Given the description of an element on the screen output the (x, y) to click on. 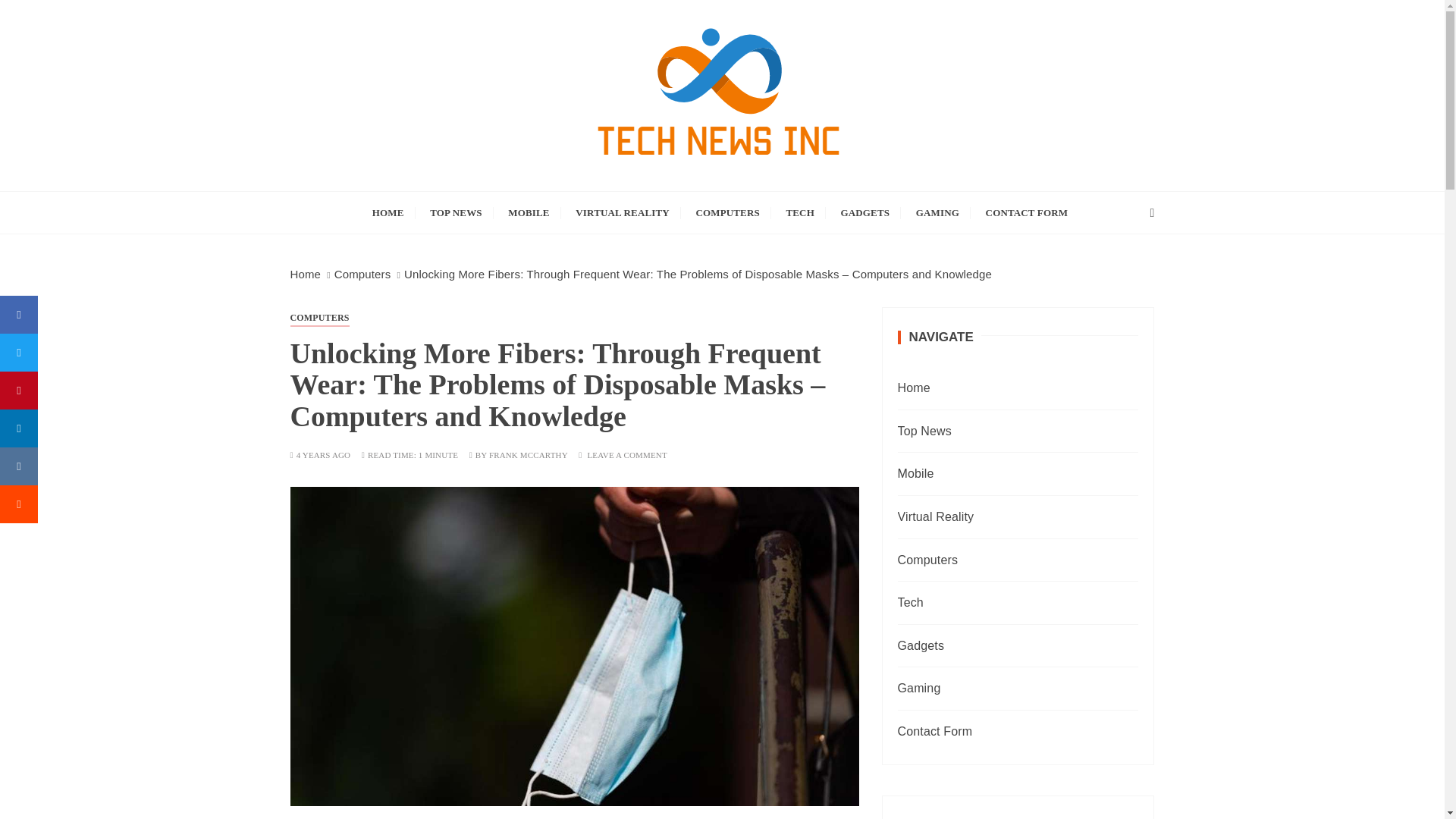
CONTACT FORM (1027, 212)
MOBILE (528, 212)
VIRTUAL REALITY (622, 212)
TOP NEWS (456, 212)
Computers (362, 273)
COMPUTERS (319, 317)
GADGETS (865, 212)
Home (304, 273)
GAMING (937, 212)
HOME (387, 212)
